Given the description of an element on the screen output the (x, y) to click on. 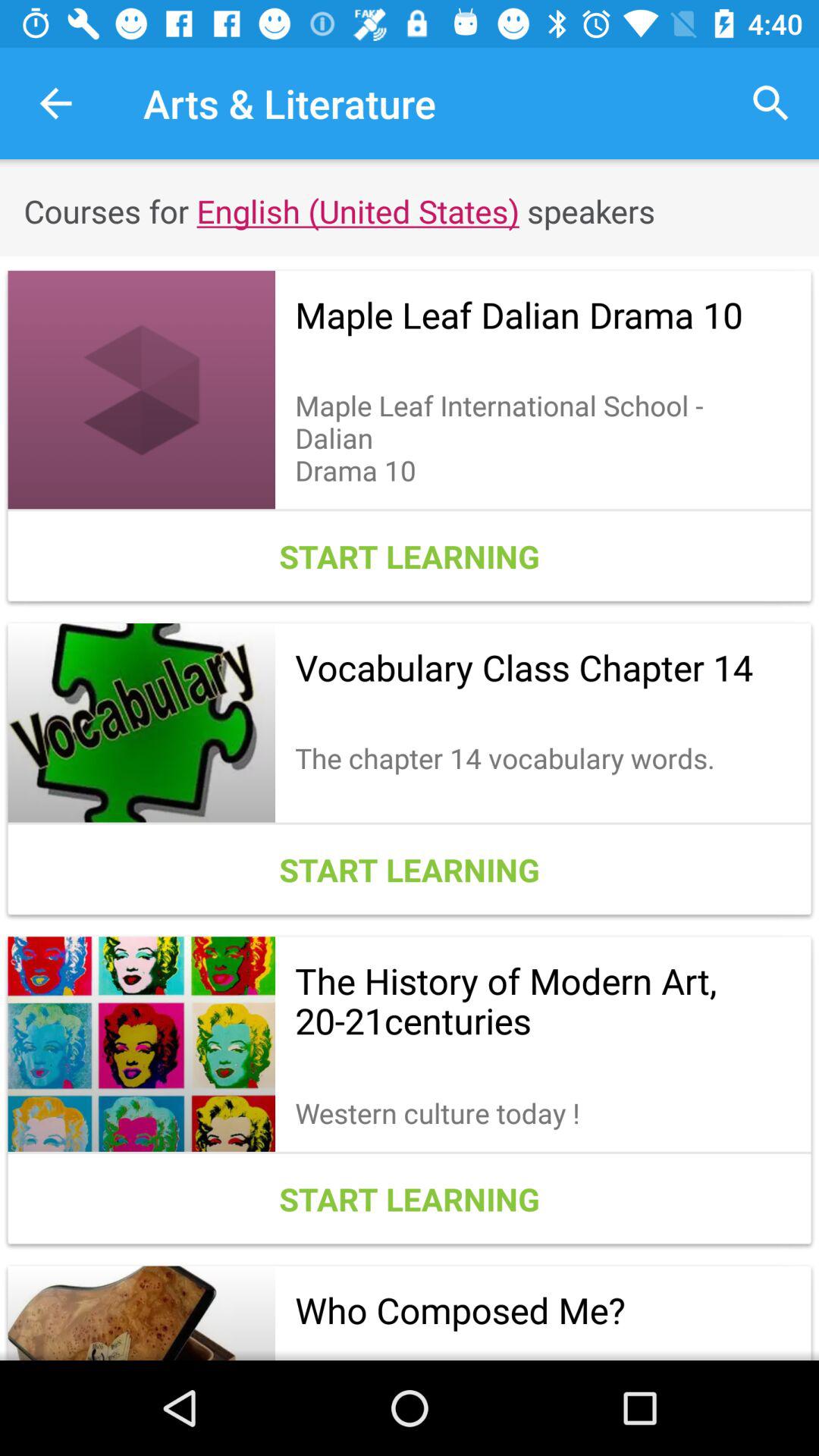
tap the courses for english (409, 210)
